Given the description of an element on the screen output the (x, y) to click on. 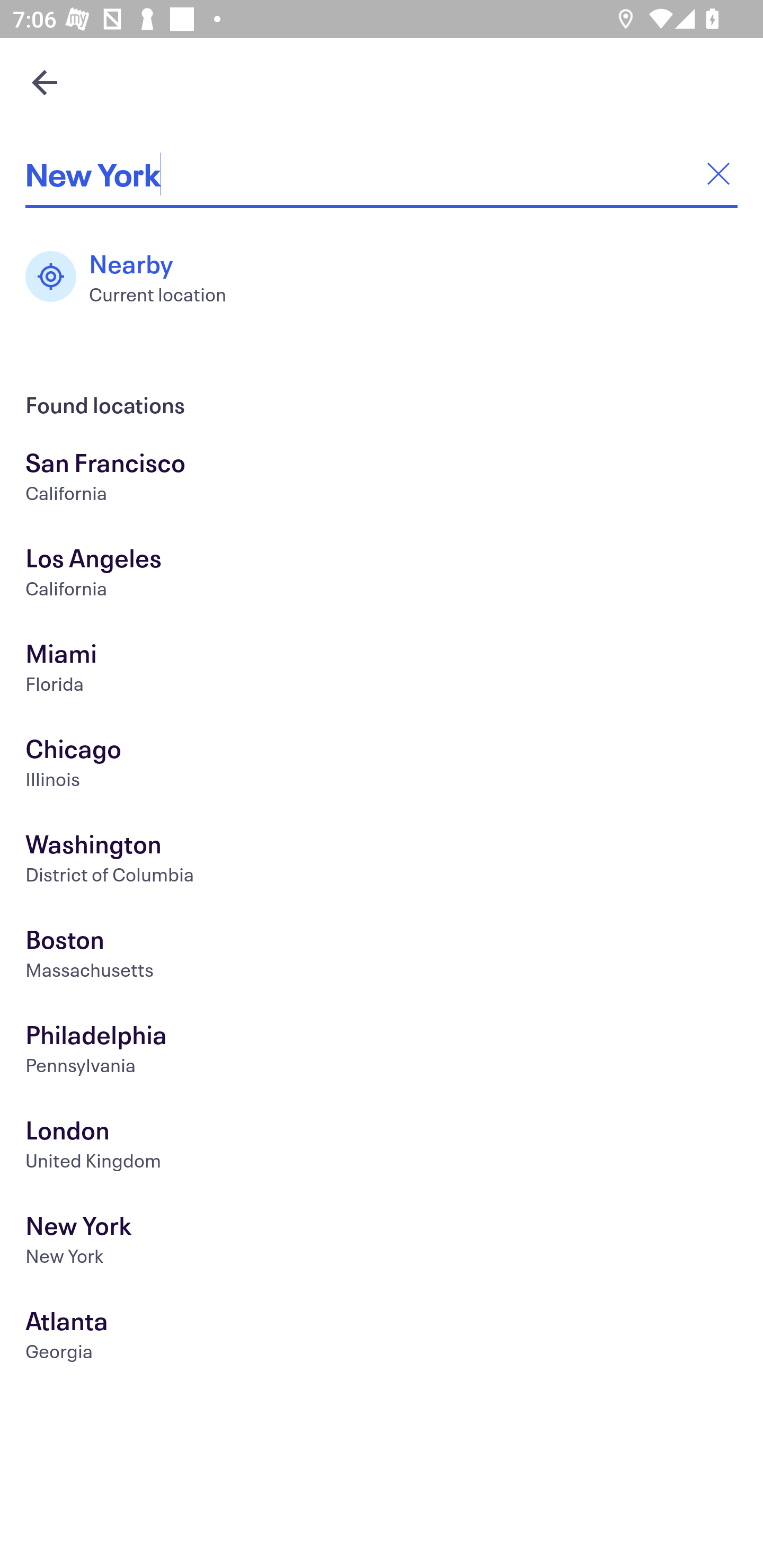
Navigate up (44, 82)
New York (381, 173)
Nearby Current location (135, 276)
San Francisco California (381, 479)
Los Angeles California (381, 574)
Miami Florida (381, 670)
Chicago Illinois (381, 765)
Washington District of Columbia (381, 861)
Boston Massachusetts (381, 955)
Philadelphia Pennsylvania (381, 1051)
London United Kingdom (381, 1146)
New York (381, 1242)
Atlanta Georgia (381, 1338)
